Given the description of an element on the screen output the (x, y) to click on. 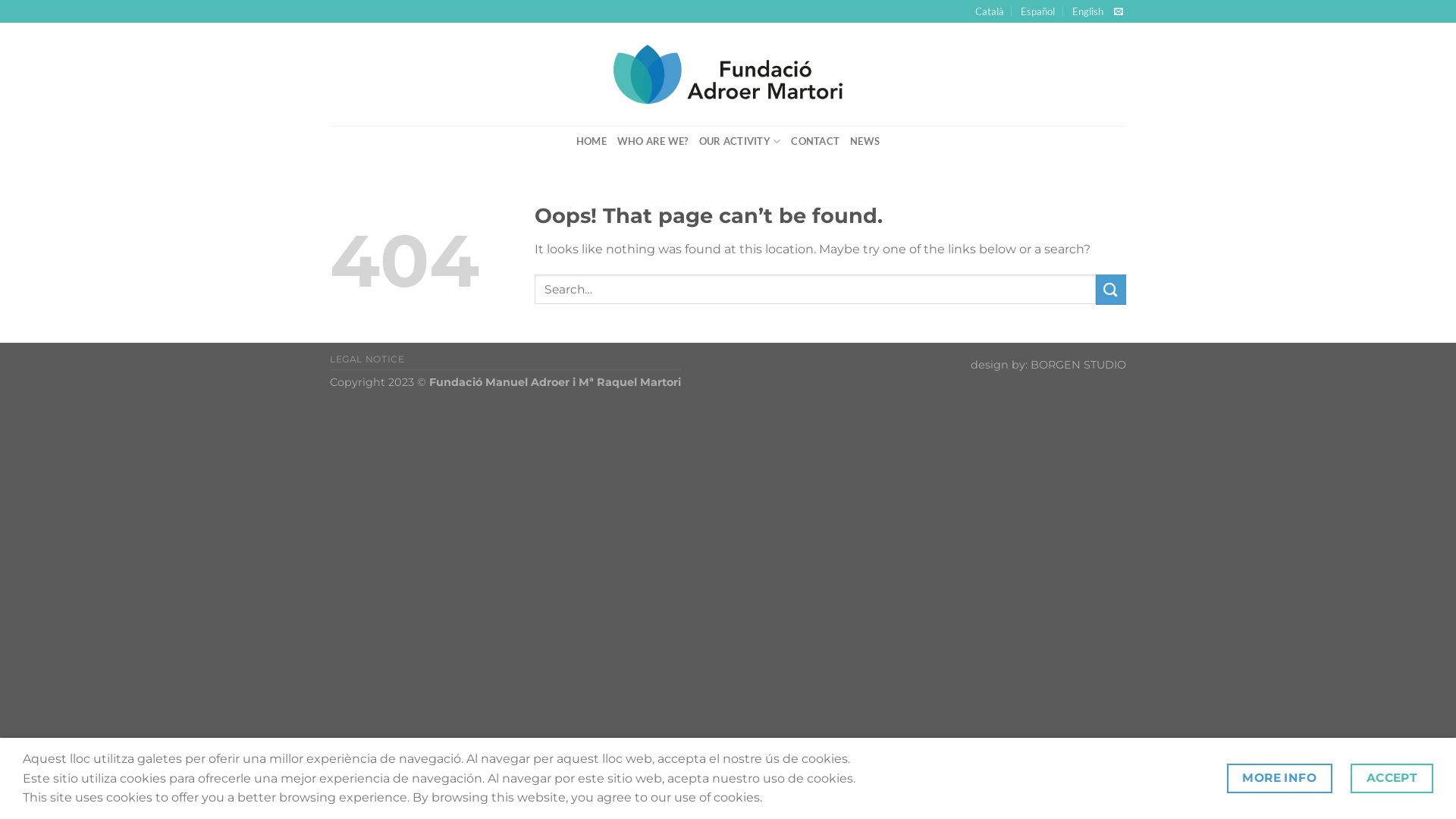
NEWS Element type: text (864, 140)
WHO ARE WE? Element type: text (652, 140)
ACCEPT Element type: text (1391, 778)
BORGEN STUDIO Element type: text (1078, 364)
HOME Element type: text (591, 140)
CONTACT Element type: text (814, 140)
OUR ACTIVITY Element type: text (740, 140)
LEGAL NOTICE Element type: text (366, 358)
English Element type: text (1087, 11)
MORE INFO Element type: text (1279, 778)
